Given the description of an element on the screen output the (x, y) to click on. 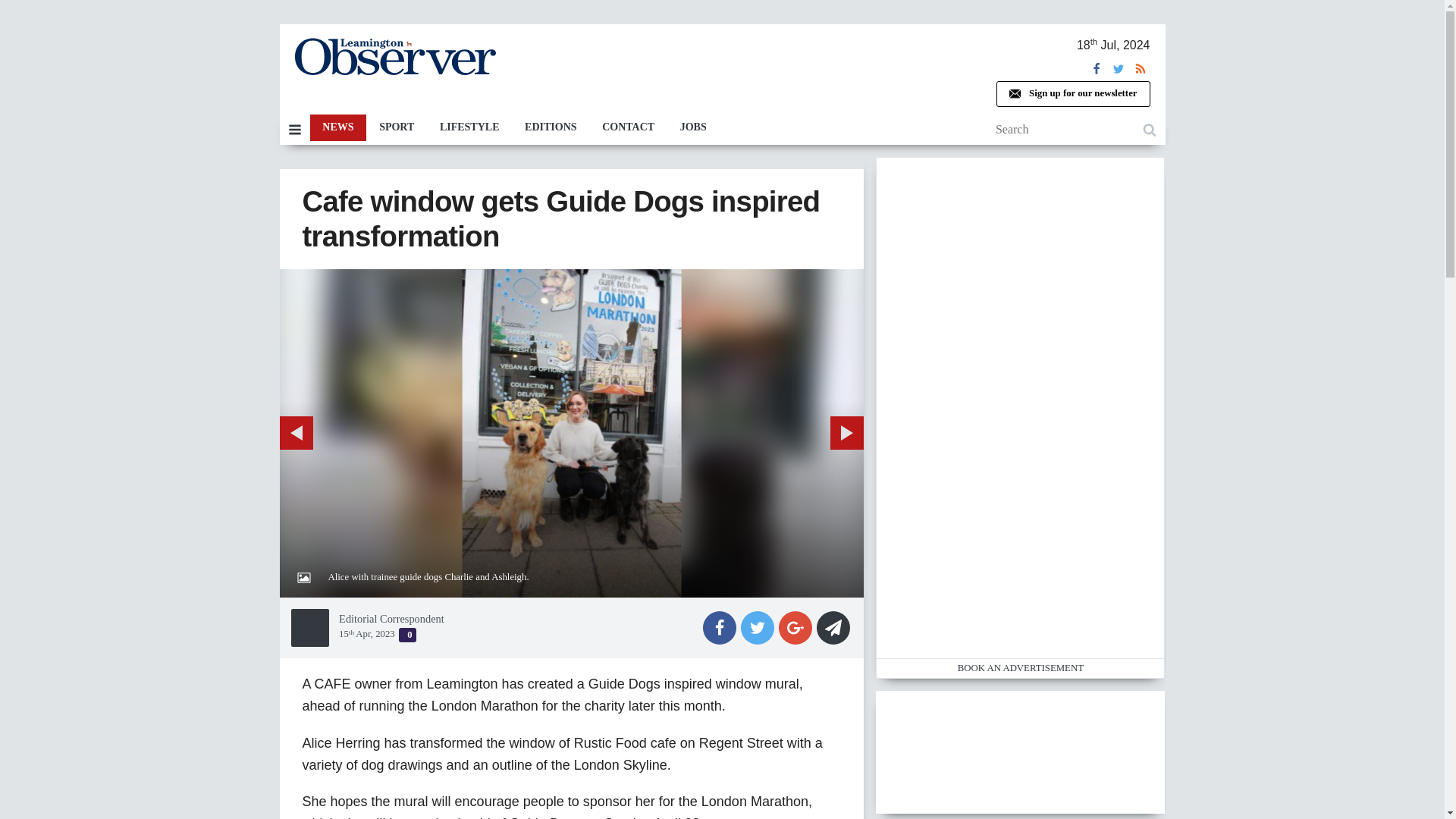
CONTACT (627, 127)
JOBS (692, 127)
Editorial Correspondent (391, 618)
NEWS (337, 127)
LIFESTYLE (469, 127)
SPORT (396, 127)
The Leamington Observer (394, 55)
  Sign up for our newsletter (1072, 94)
EDITIONS (550, 127)
